Given the description of an element on the screen output the (x, y) to click on. 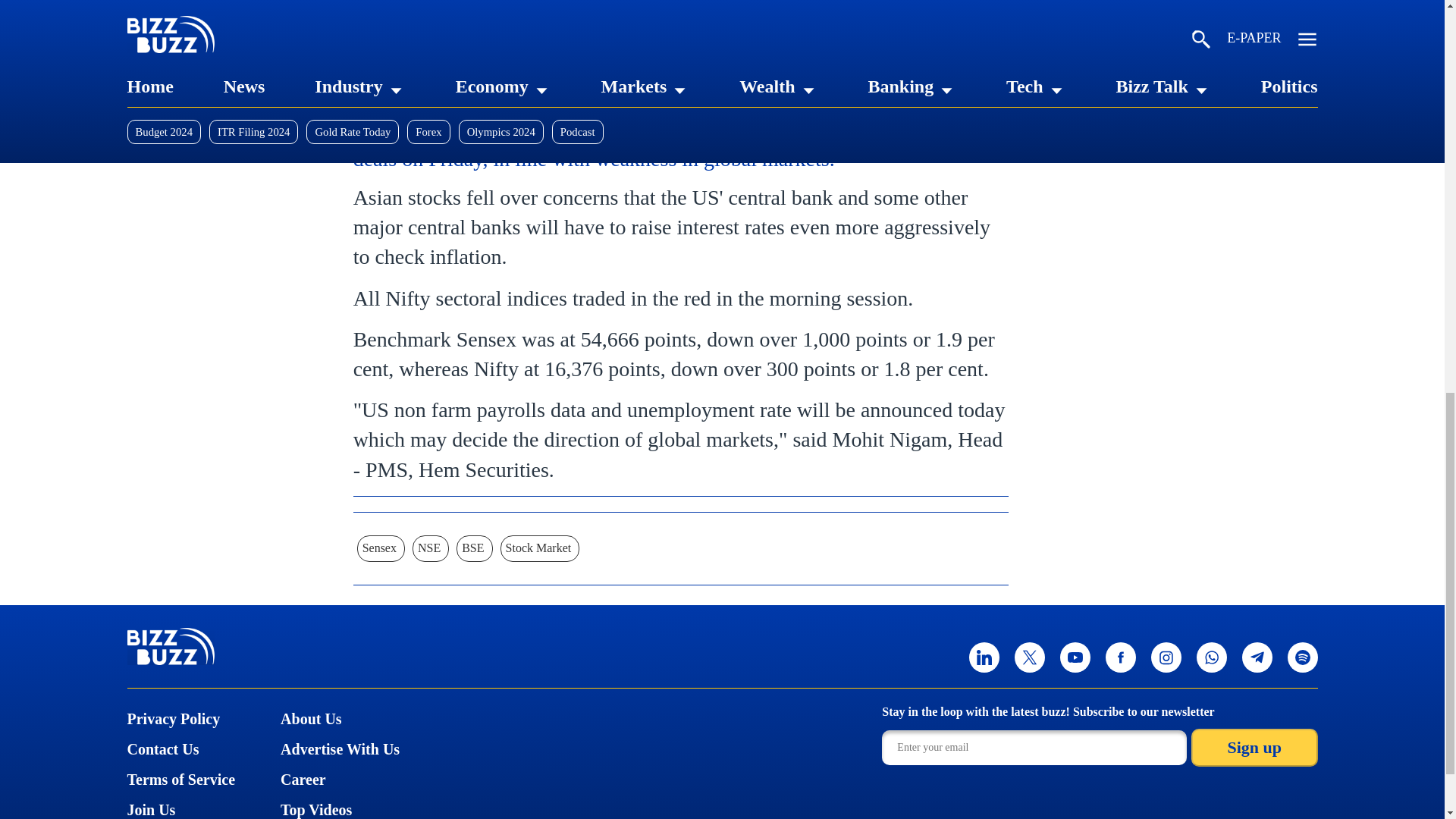
LinkedIn (368, 91)
Share by Email (567, 91)
